Given the description of an element on the screen output the (x, y) to click on. 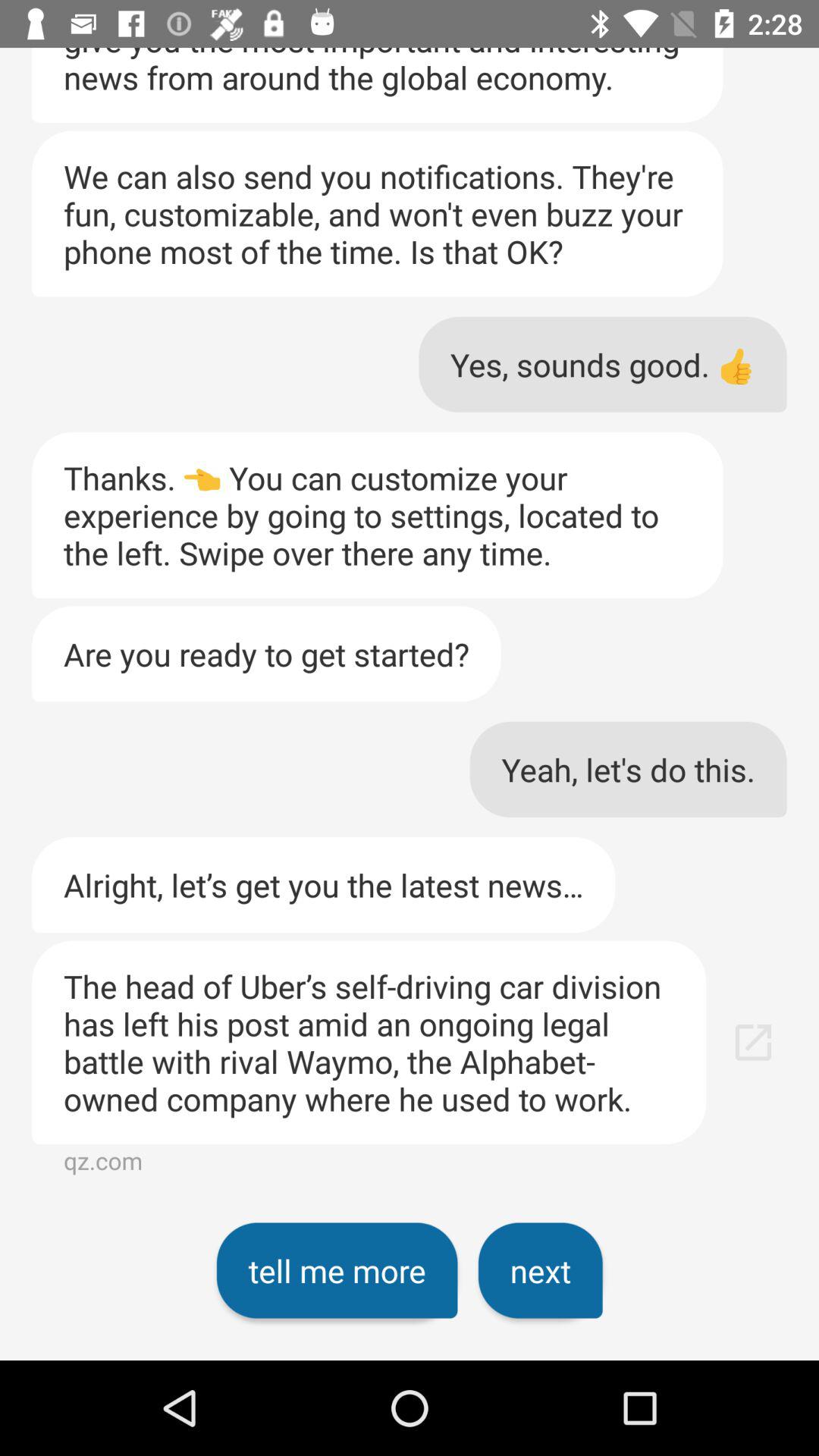
open the icon to the left of the next item (336, 1270)
